Given the description of an element on the screen output the (x, y) to click on. 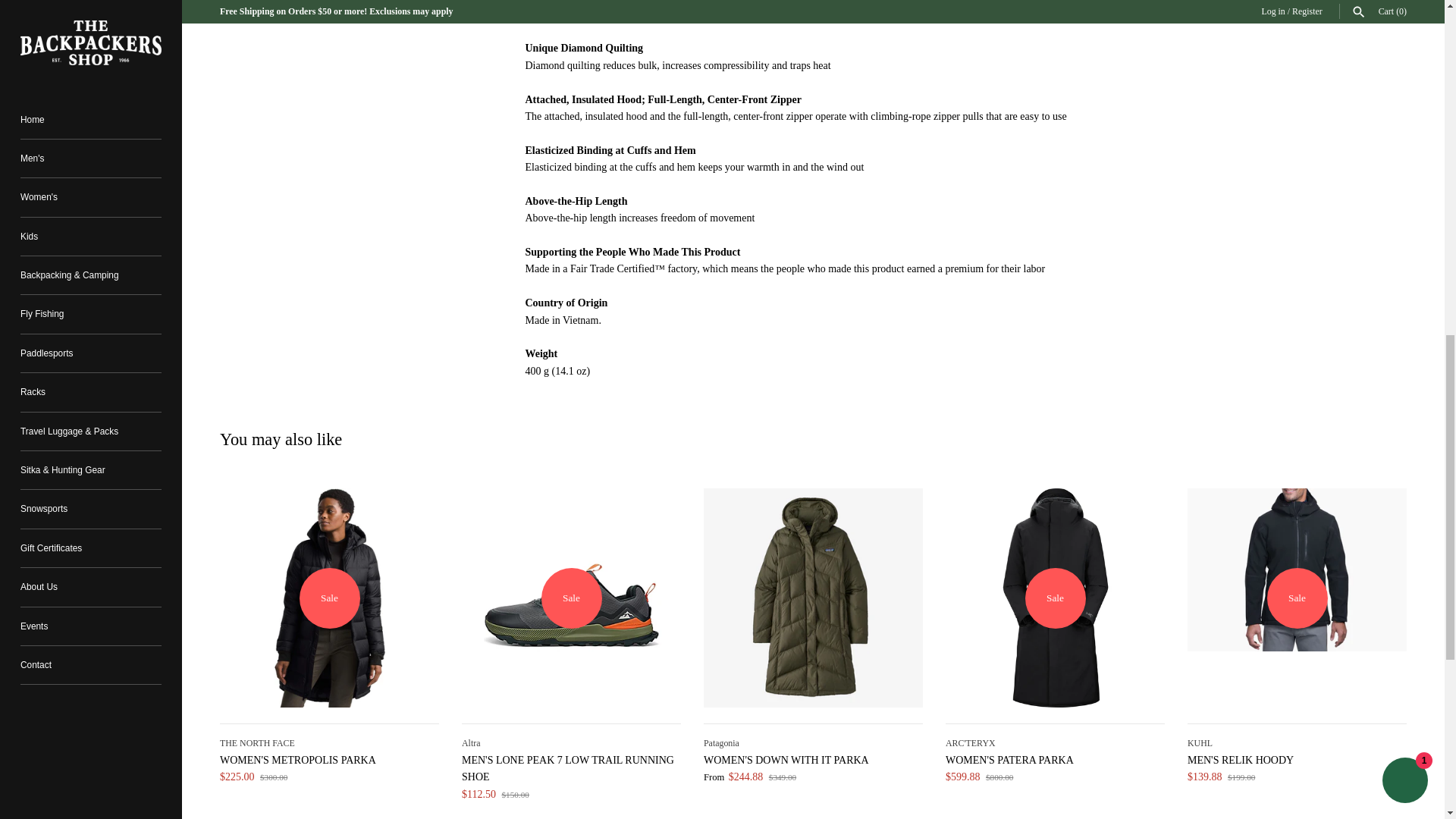
WOMEN'S PATERA PARKA (1054, 597)
WOMEN'S DOWN WITH IT PARKA (813, 597)
MEN'S RELIK HOODY (1297, 597)
MEN'S LONE PEAK 7 LOW TRAIL RUNNING SHOE (571, 597)
WOMEN'S METROPOLIS PARKA (329, 597)
